Given the description of an element on the screen output the (x, y) to click on. 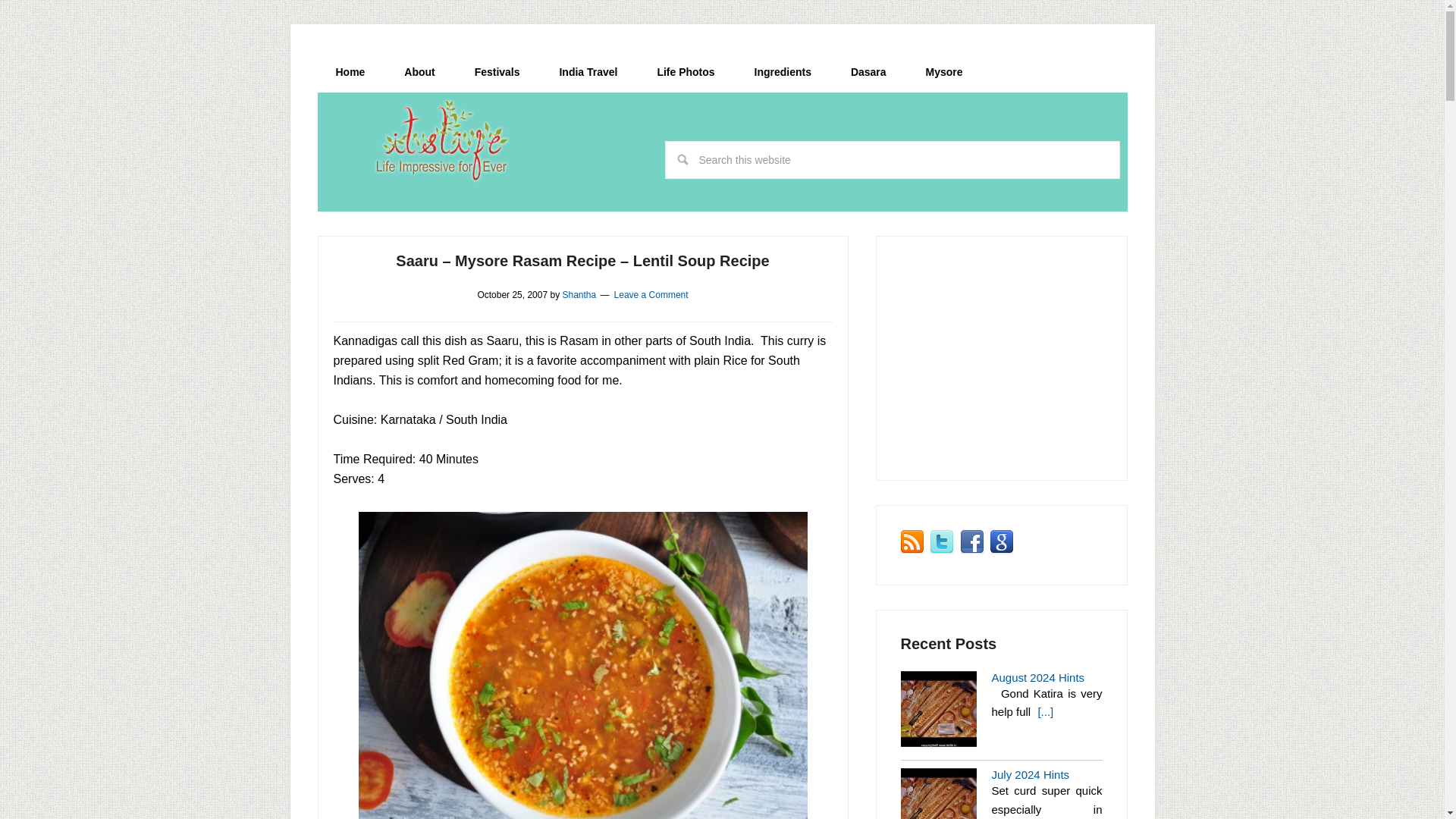
Dasara (868, 71)
itslife.in (445, 141)
Life Photos (685, 71)
India Travel (587, 71)
Leave a Comment (651, 294)
Mysore (943, 71)
Ingredients (782, 71)
Shantha (578, 294)
